Given the description of an element on the screen output the (x, y) to click on. 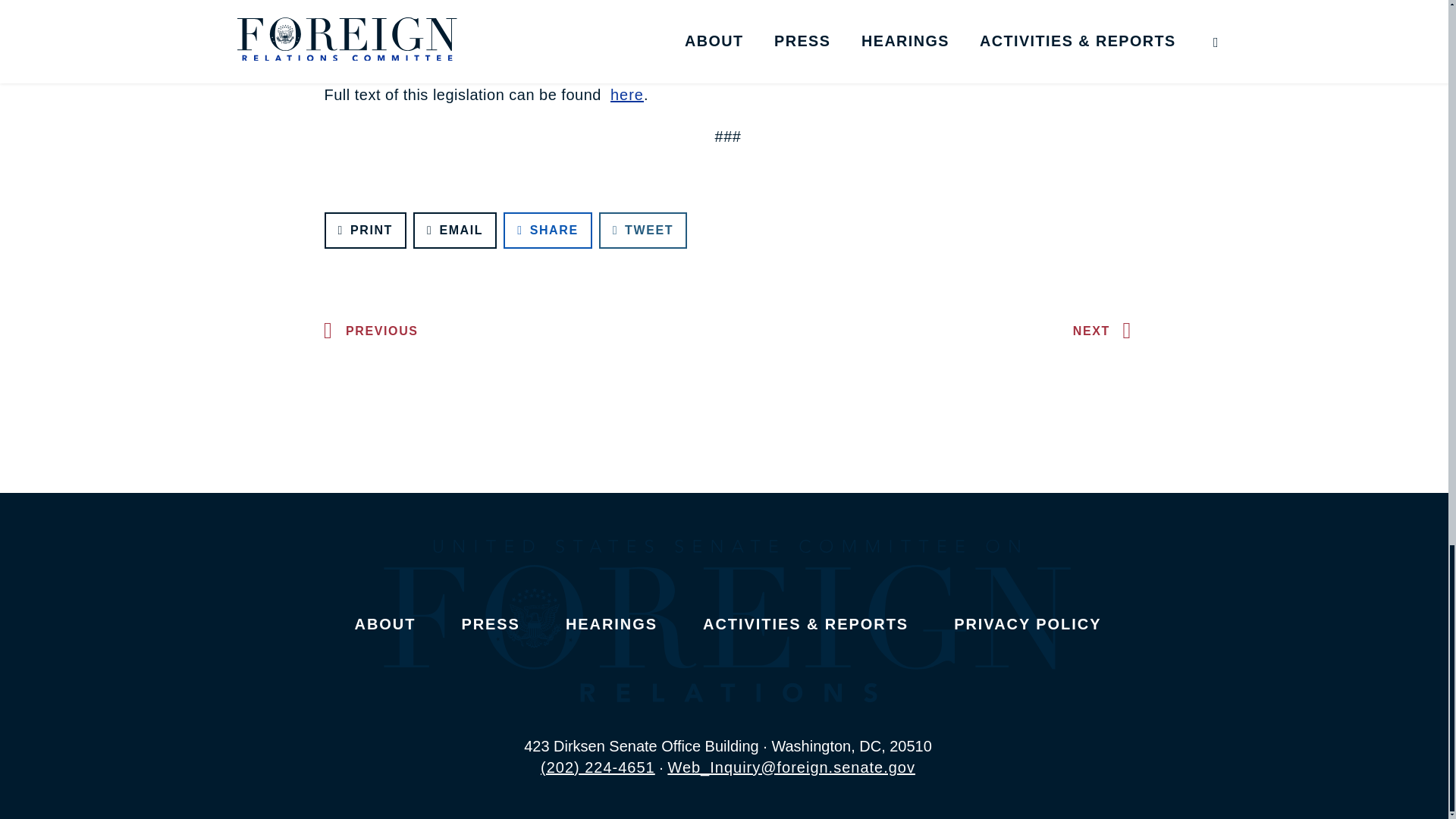
Press (490, 623)
Hearings (612, 623)
EMAIL (454, 230)
here (626, 94)
About (385, 623)
Privacy Policy (1026, 623)
SHARE (547, 230)
TWEET (642, 230)
PRINT (365, 230)
NEXT (1105, 330)
PREVIOUS (367, 330)
